Given the description of an element on the screen output the (x, y) to click on. 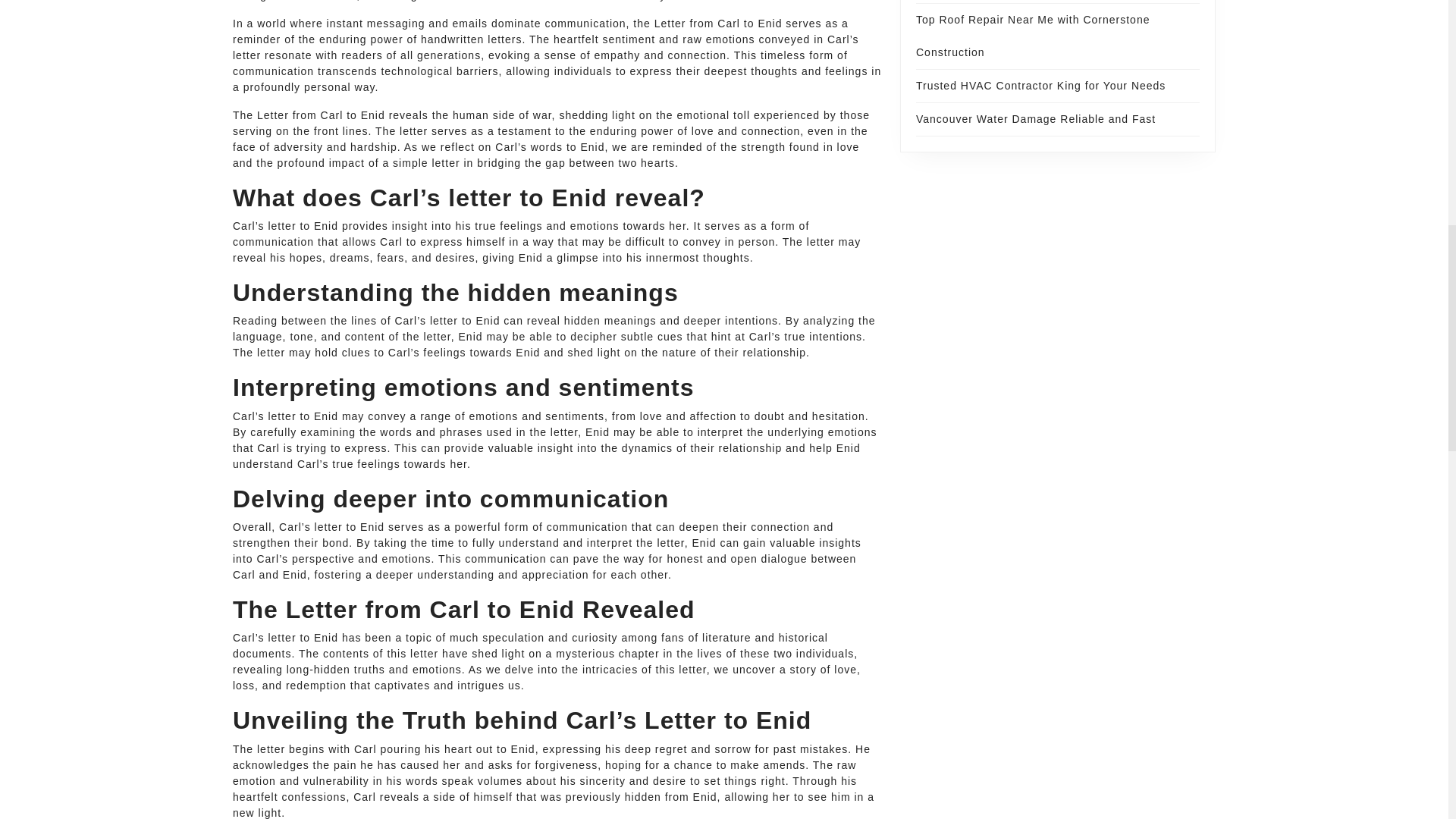
Trusted HVAC Contractor King for Your Needs (1040, 85)
Vancouver Water Damage Reliable and Fast (1035, 119)
Top Roof Repair Near Me with Cornerstone Construction (1032, 35)
